Given the description of an element on the screen output the (x, y) to click on. 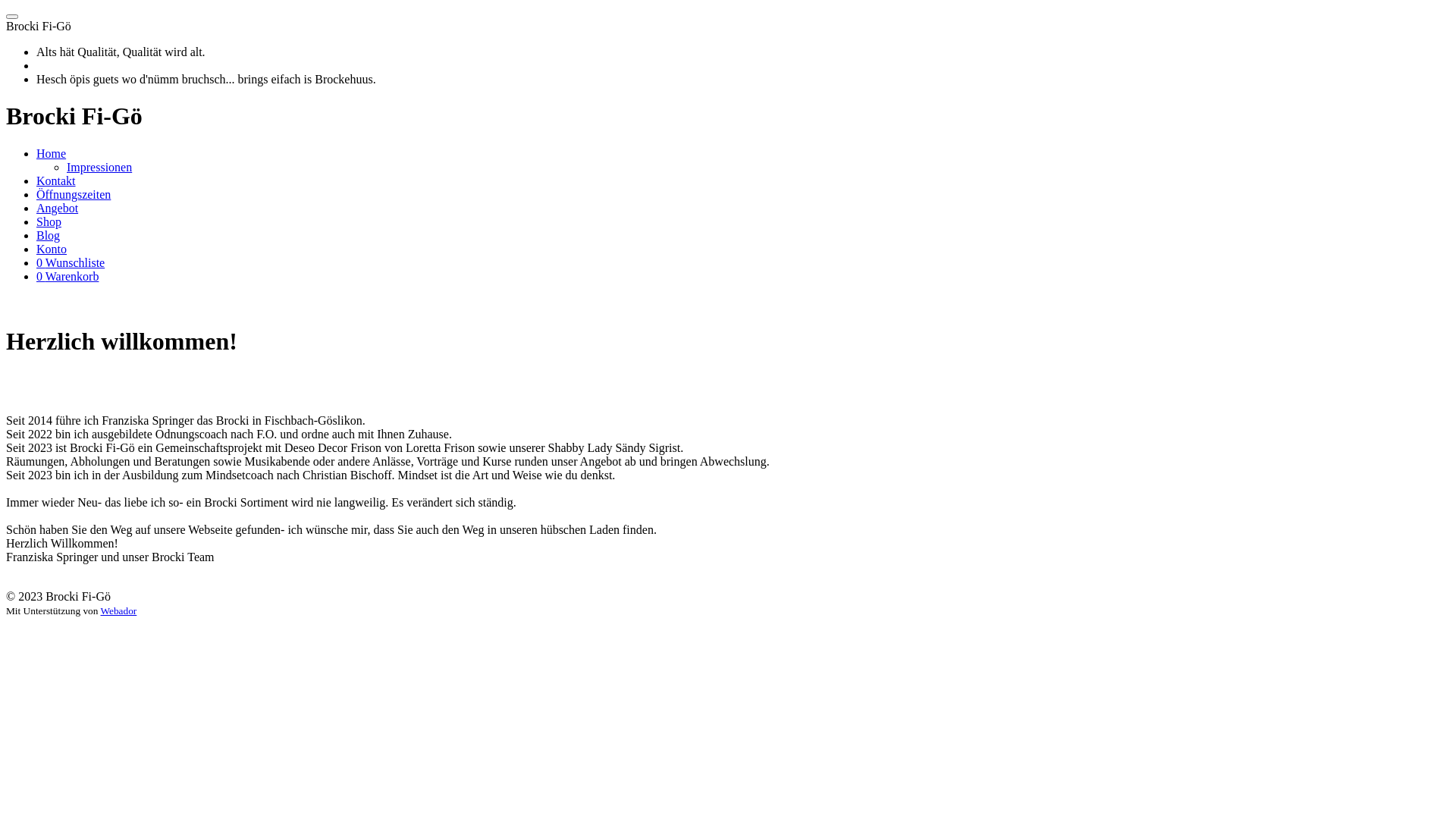
Impressionen Element type: text (98, 166)
Konto Element type: text (51, 248)
Blog Element type: text (47, 235)
Shop Element type: text (48, 221)
0 Wunschliste Element type: text (70, 262)
0 Warenkorb Element type: text (67, 275)
Home Element type: text (50, 153)
Kontakt Element type: text (55, 180)
Angebot Element type: text (57, 207)
Webador Element type: text (118, 610)
